Given the description of an element on the screen output the (x, y) to click on. 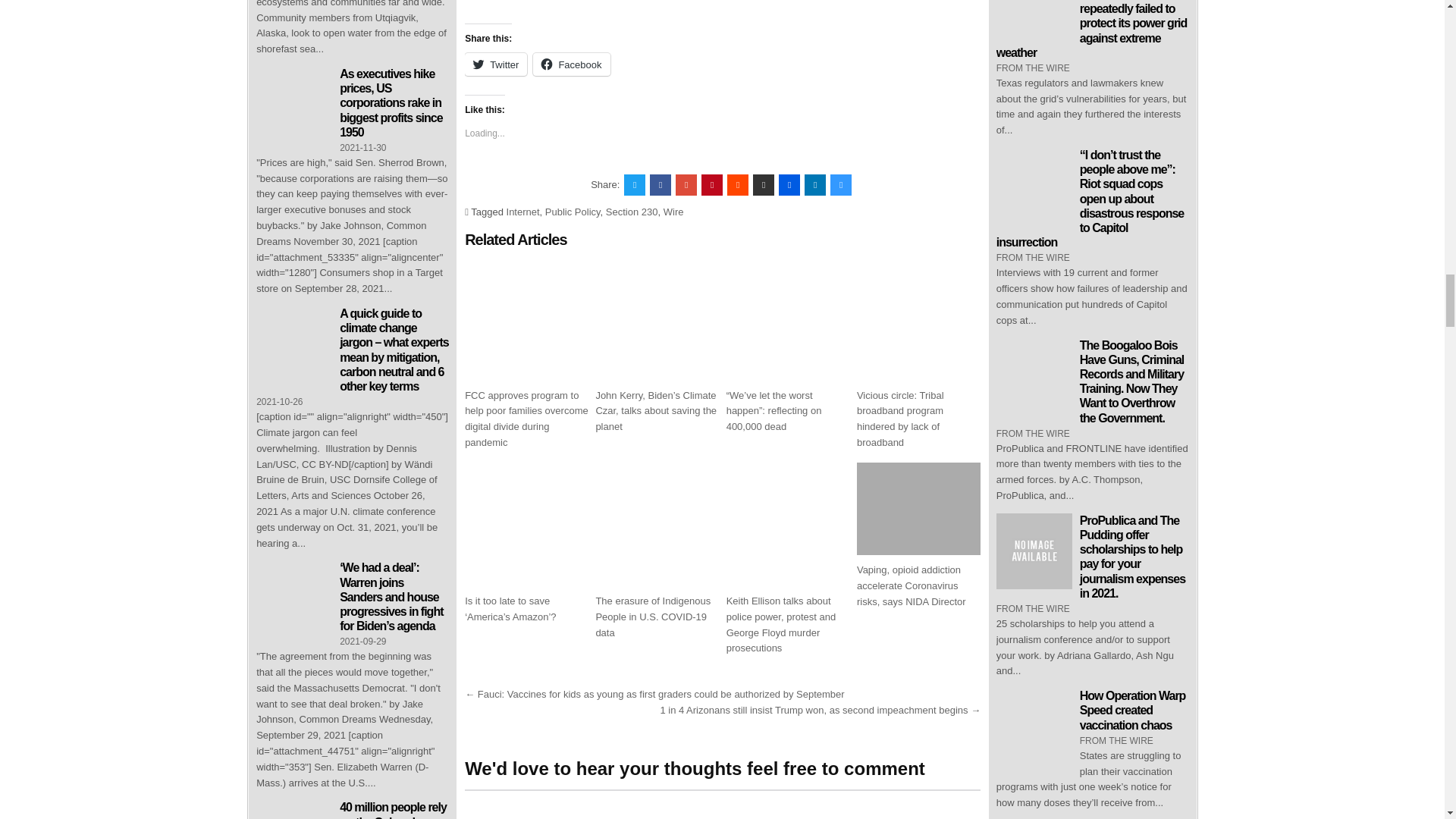
Share this on Delicious (840, 184)
Share this on Reddit (737, 184)
Twitter (495, 64)
Click to share on Facebook (571, 64)
Share this on Facebook (660, 184)
Click to share on Twitter (495, 64)
Facebook (571, 64)
Share this on VK (763, 184)
Share this on Linkedin (815, 184)
